Given the description of an element on the screen output the (x, y) to click on. 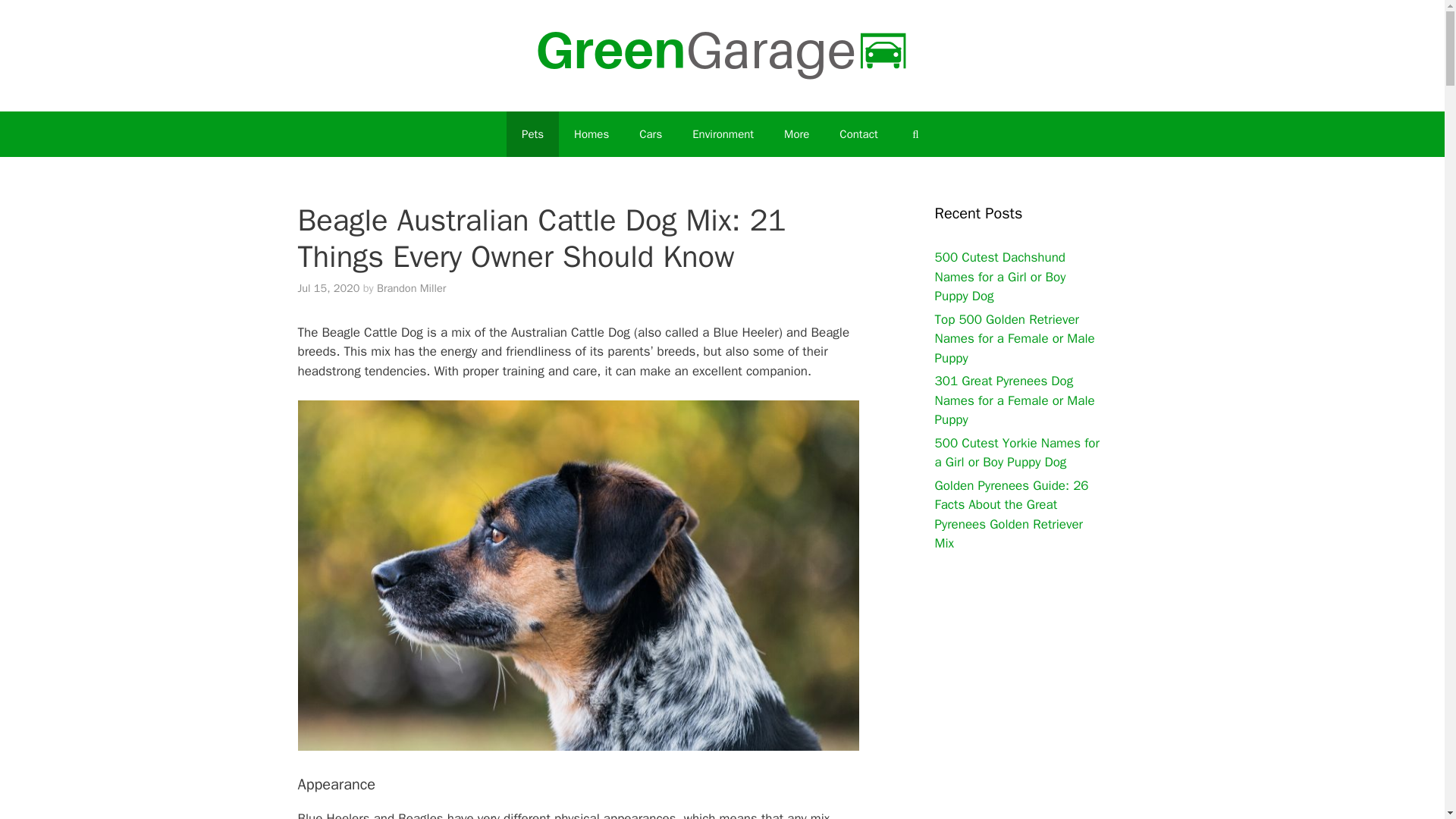
View all posts by Brandon Miller (411, 287)
Environment (722, 134)
Brandon Miller (411, 287)
Green Garage (721, 54)
10:31 pm (328, 287)
Green Garage (721, 55)
Jul 15, 2020 (328, 287)
500 Cutest Yorkie Names for a Girl or Boy Puppy Dog (1016, 452)
Top 500 Golden Retriever Names for a Female or Male Puppy (1014, 338)
